Given the description of an element on the screen output the (x, y) to click on. 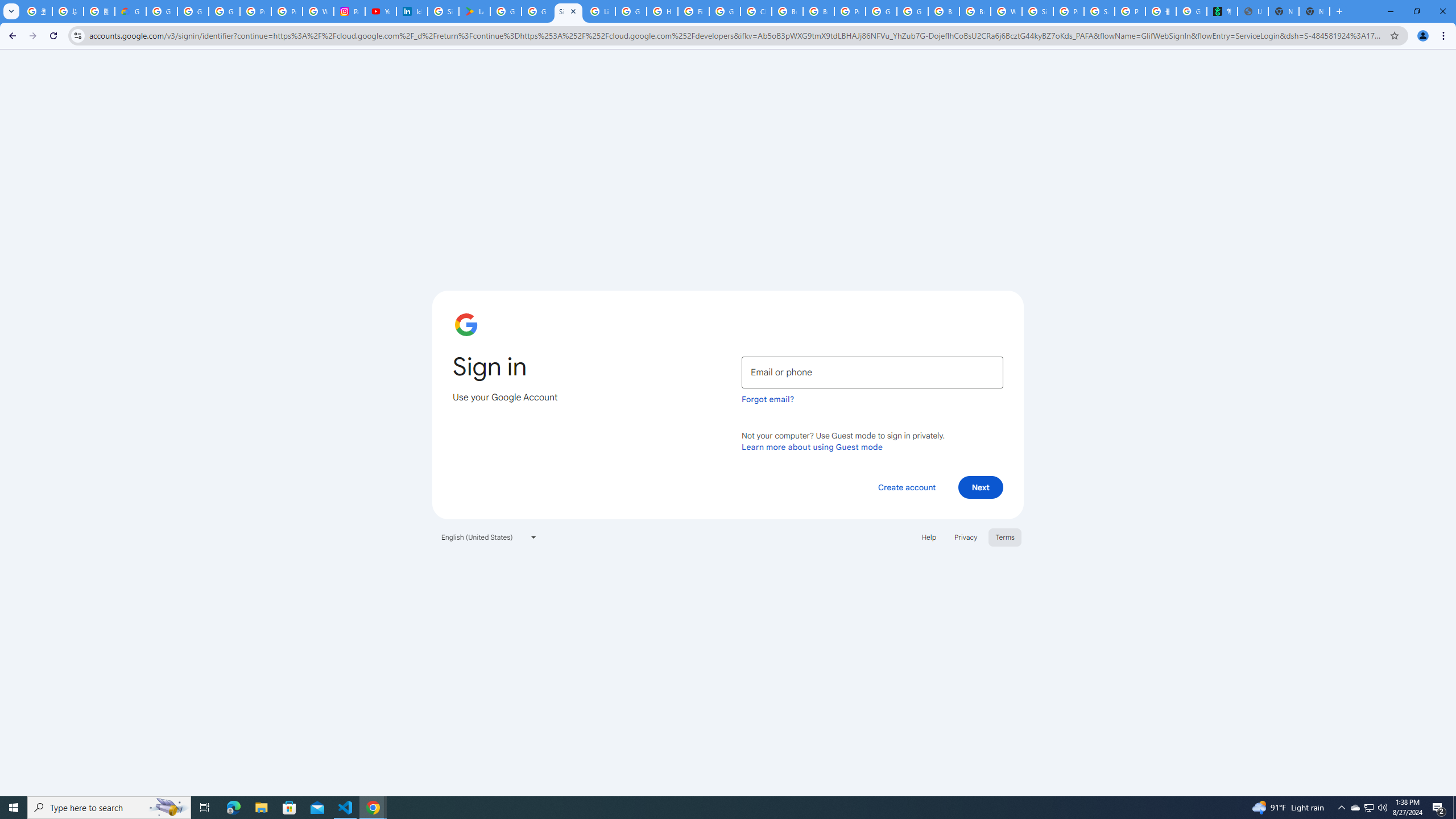
Learn more about using Guest mode (812, 446)
Next (980, 486)
Untitled (1252, 11)
Forgot email? (767, 398)
Create account (905, 486)
Google Cloud Platform (912, 11)
